Given the description of an element on the screen output the (x, y) to click on. 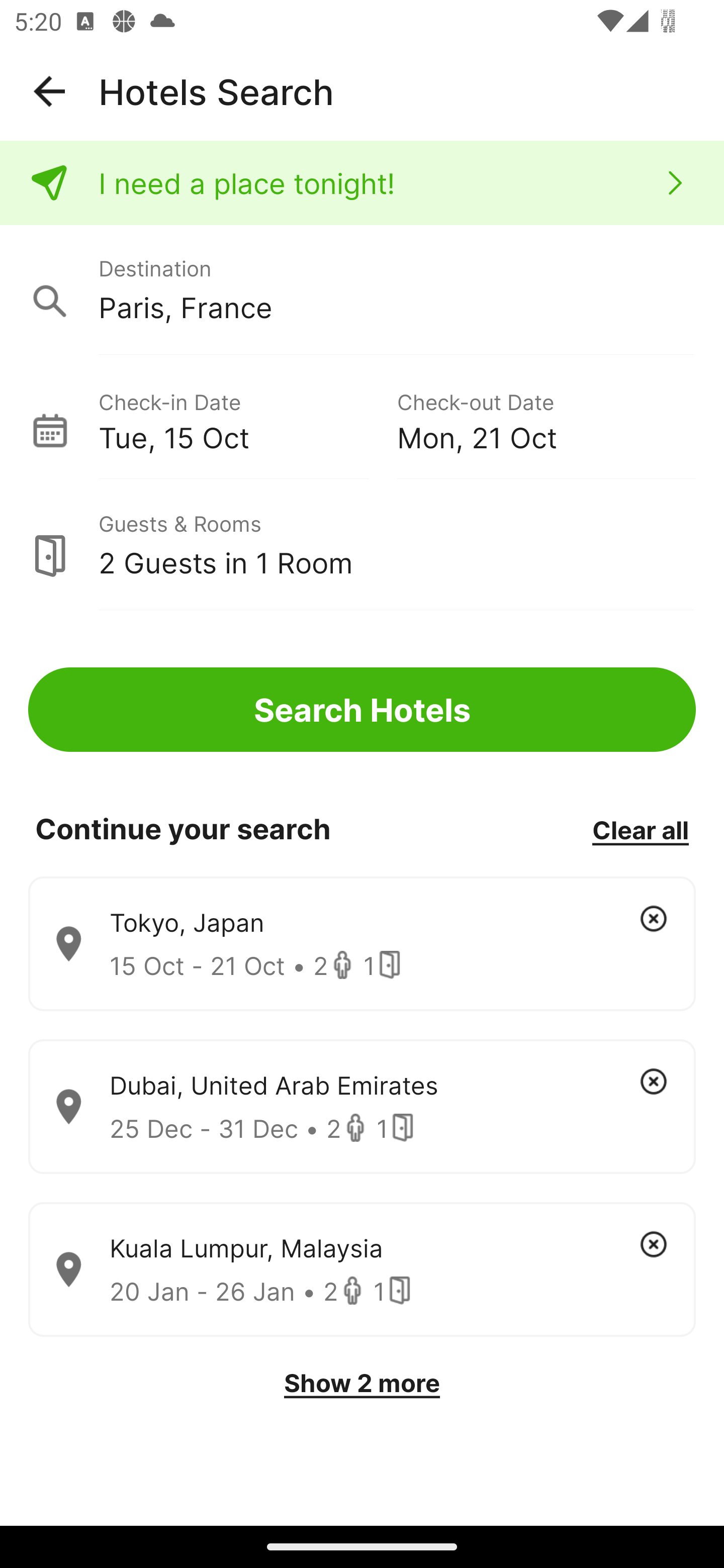
I need a place tonight! (362, 183)
Destination Paris, France (362, 290)
Check-in Date Tue, 15 Oct (247, 418)
Check-out Date Mon, 21 Oct (546, 418)
Guests & Rooms 2 Guests in 1 Room (362, 545)
Search Hotels (361, 709)
Clear all (640, 829)
Tokyo, Japan 15 Oct - 21 Oct • 2  1  (361, 943)
Kuala Lumpur, Malaysia 20 Jan - 26 Jan • 2  1  (361, 1269)
Show 2 more (362, 1382)
